Given the description of an element on the screen output the (x, y) to click on. 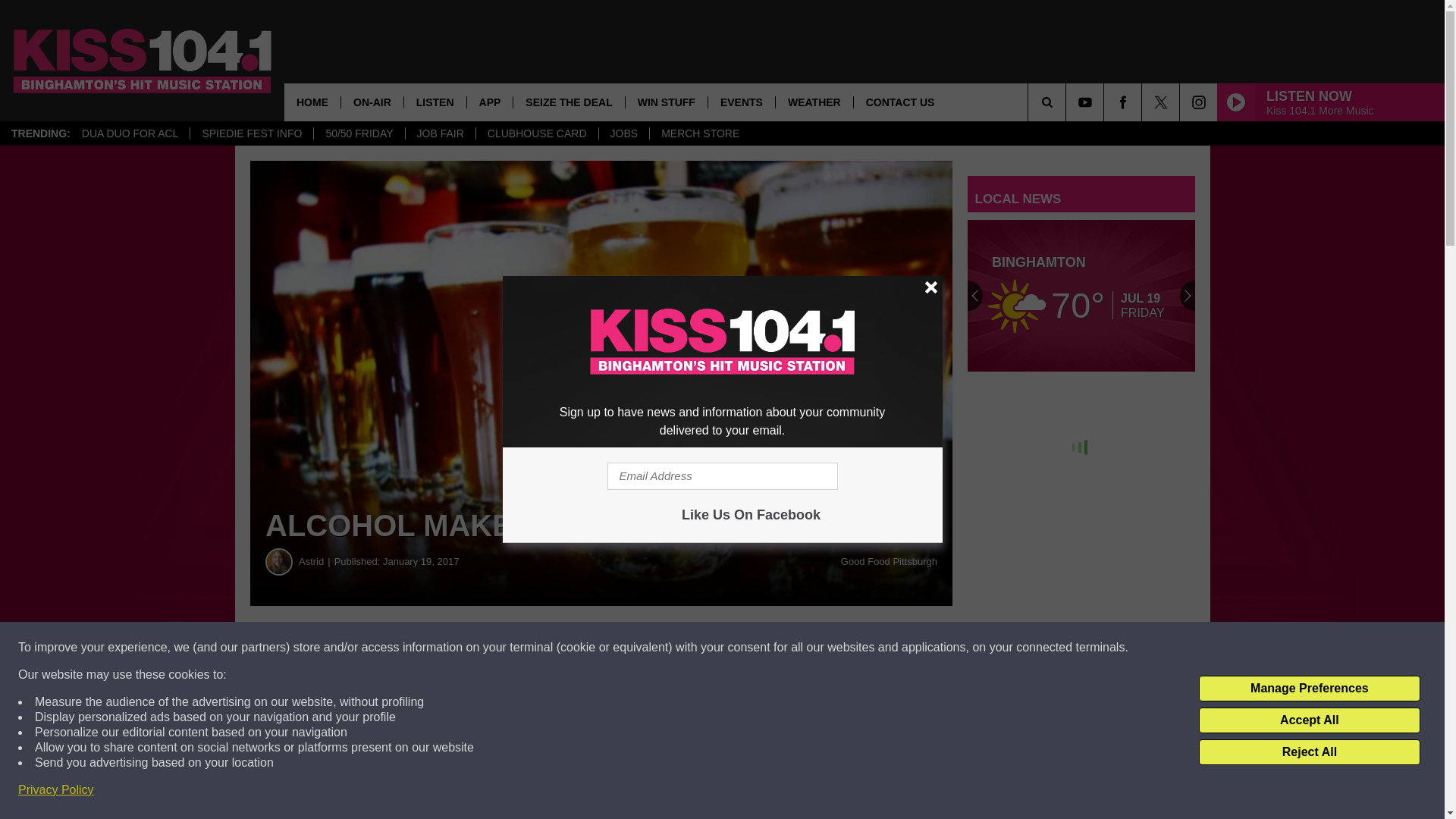
EVENTS (740, 102)
LISTEN (434, 102)
Share on Twitter (741, 647)
SPIEDIE FEST INFO (251, 133)
HOME (311, 102)
Accept All (1309, 720)
Share on Facebook (460, 647)
JOBS (623, 133)
ON-AIR (371, 102)
WEATHER (813, 102)
CLUBHOUSE CARD (537, 133)
SEARCH (1068, 102)
SEARCH (1068, 102)
APP (489, 102)
SEIZE THE DEAL (568, 102)
